Given the description of an element on the screen output the (x, y) to click on. 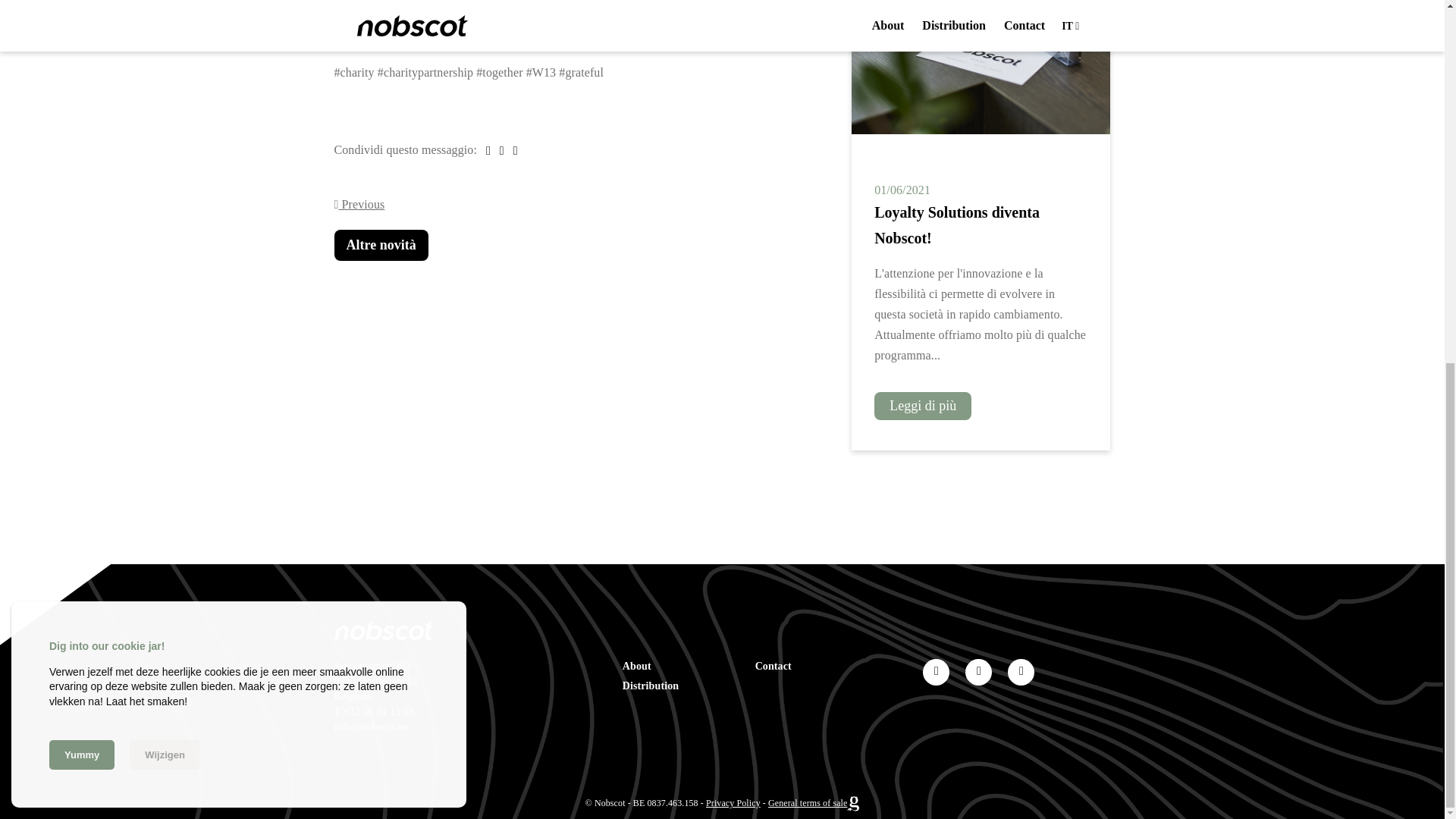
Wijzigen (164, 107)
Yummy (82, 107)
